Given the description of an element on the screen output the (x, y) to click on. 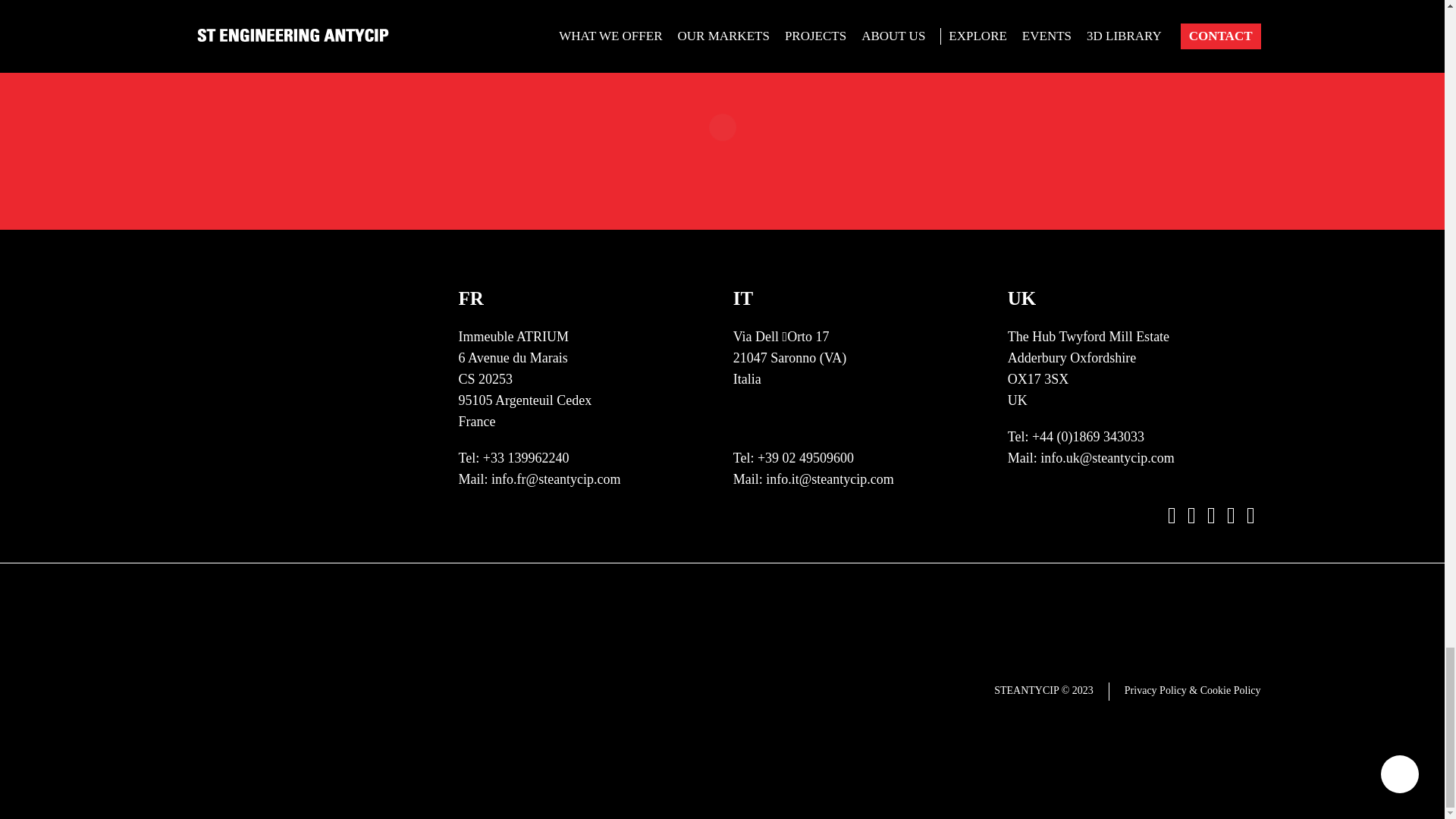
logo techviz white no background (859, 215)
logo-middlevr-web-white - Copy (648, 366)
Digital-Projection-Logo-white no background (859, 745)
ScalableDisplayTechnologies Logo - Copy (859, 594)
